Given the description of an element on the screen output the (x, y) to click on. 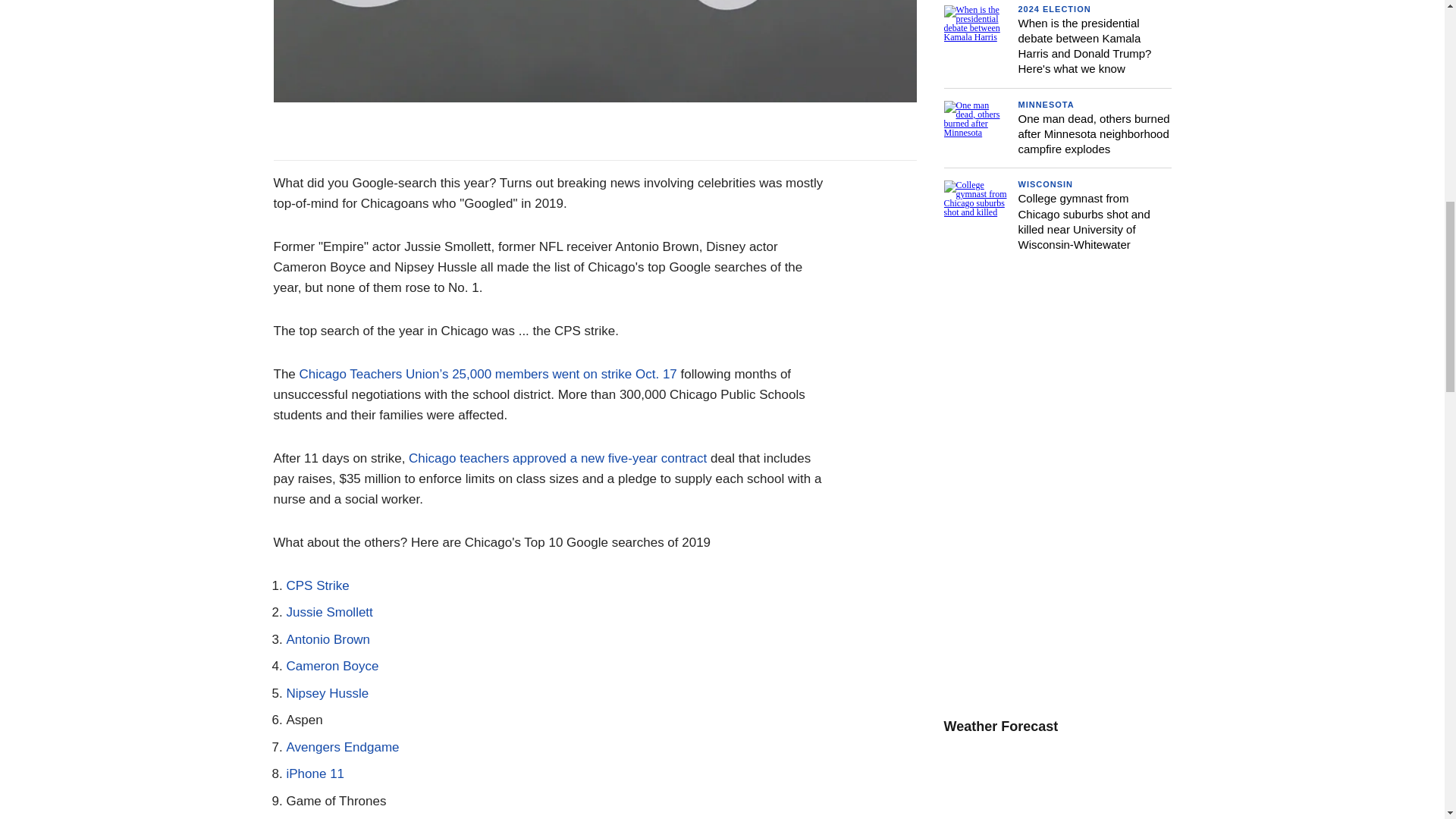
Jussie Smollett (329, 612)
Nipsey Hussle (327, 693)
Cameron Boyce (332, 666)
CPS Strike (317, 585)
iPhone 11 (315, 773)
Avengers Endgame (342, 747)
Chicago teachers approved a new five-year contract (557, 458)
Antonio Brown (328, 639)
